Given the description of an element on the screen output the (x, y) to click on. 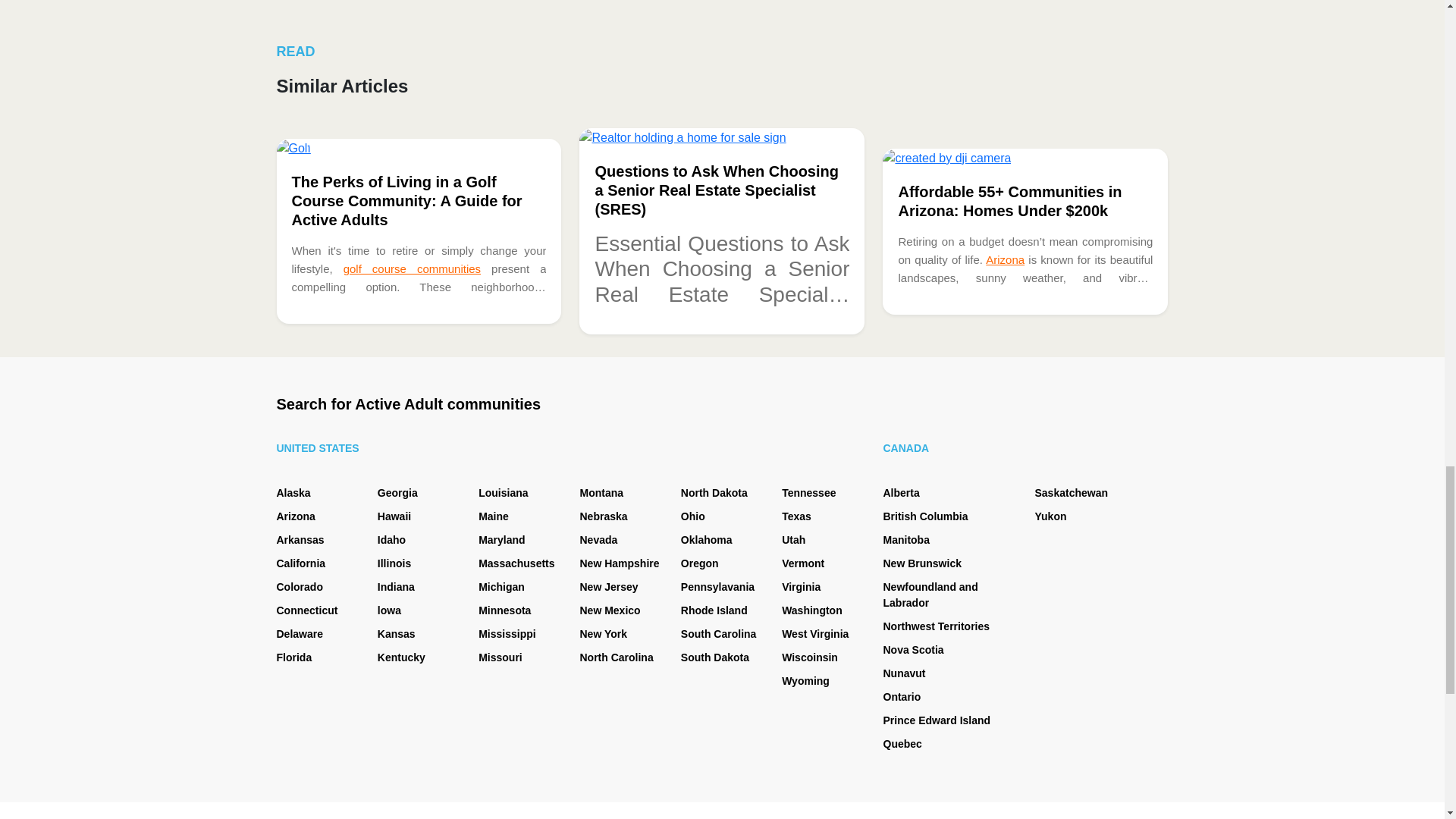
golf course communities (411, 268)
Connecticut (306, 610)
Arkansas (299, 539)
Arizona (295, 516)
California (300, 563)
Arizona (1005, 259)
Georgia (397, 492)
Hawaii (393, 516)
Alaska (293, 492)
Florida (293, 657)
Delaware (298, 633)
Colorado (298, 586)
